Given the description of an element on the screen output the (x, y) to click on. 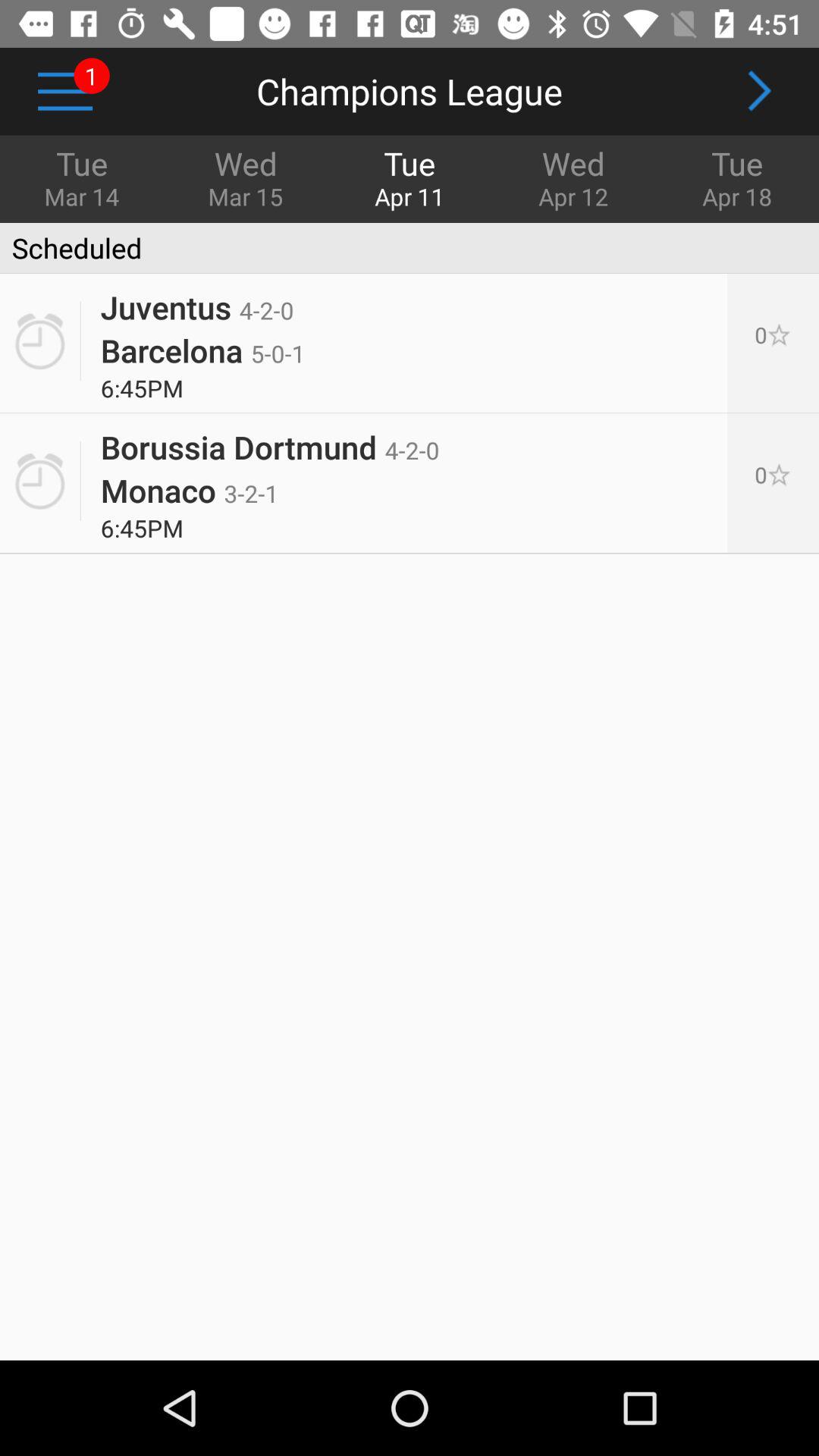
turn off the item to the left of tue
apr 18 icon (573, 176)
